Given the description of an element on the screen output the (x, y) to click on. 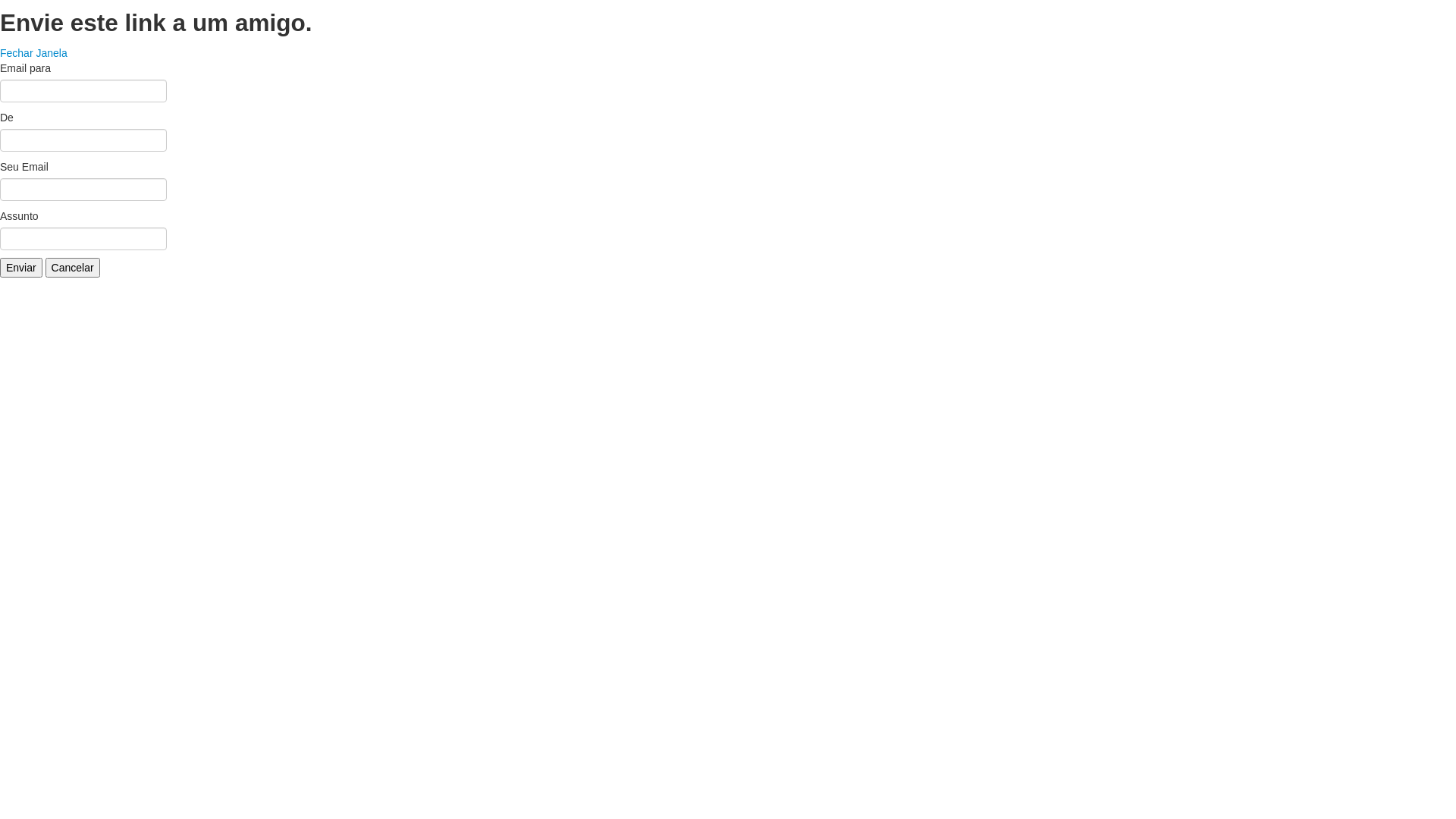
Cancelar Element type: text (72, 267)
Fechar Janela Element type: text (33, 53)
Enviar Element type: text (21, 267)
